Given the description of an element on the screen output the (x, y) to click on. 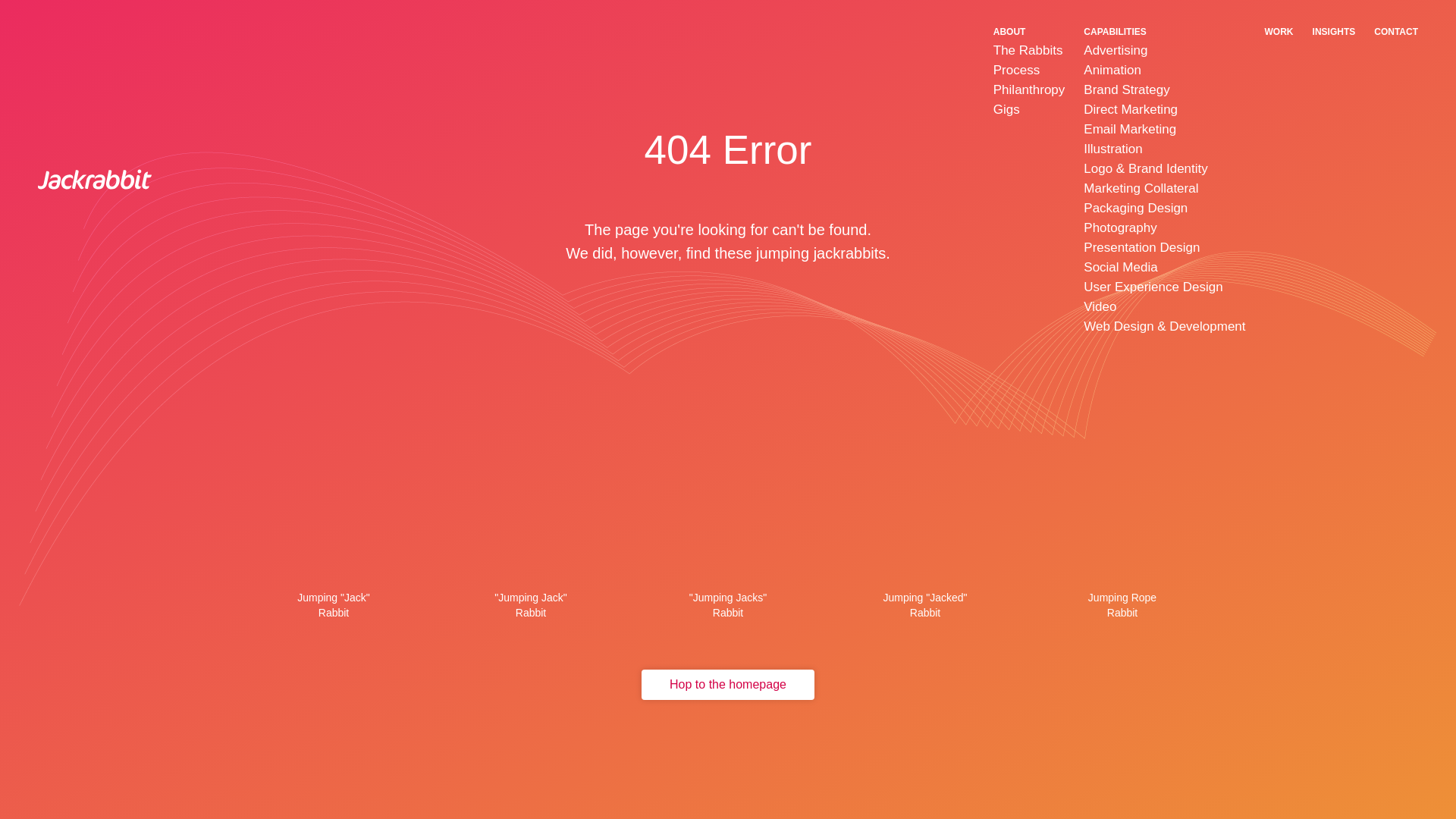
WORK (1279, 31)
Animation (1112, 69)
The Rabbits (1027, 50)
Social Media (1120, 267)
Process (1015, 69)
Packaging Design (1135, 207)
CAPABILITIES (1114, 31)
User Experience Design (1153, 287)
ABOUT (1009, 31)
INSIGHTS (1334, 31)
Marketing Collateral (1140, 187)
Presentation Design (1141, 247)
Hop to the homepage (727, 684)
Gigs (1006, 109)
Advertising (1115, 50)
